Given the description of an element on the screen output the (x, y) to click on. 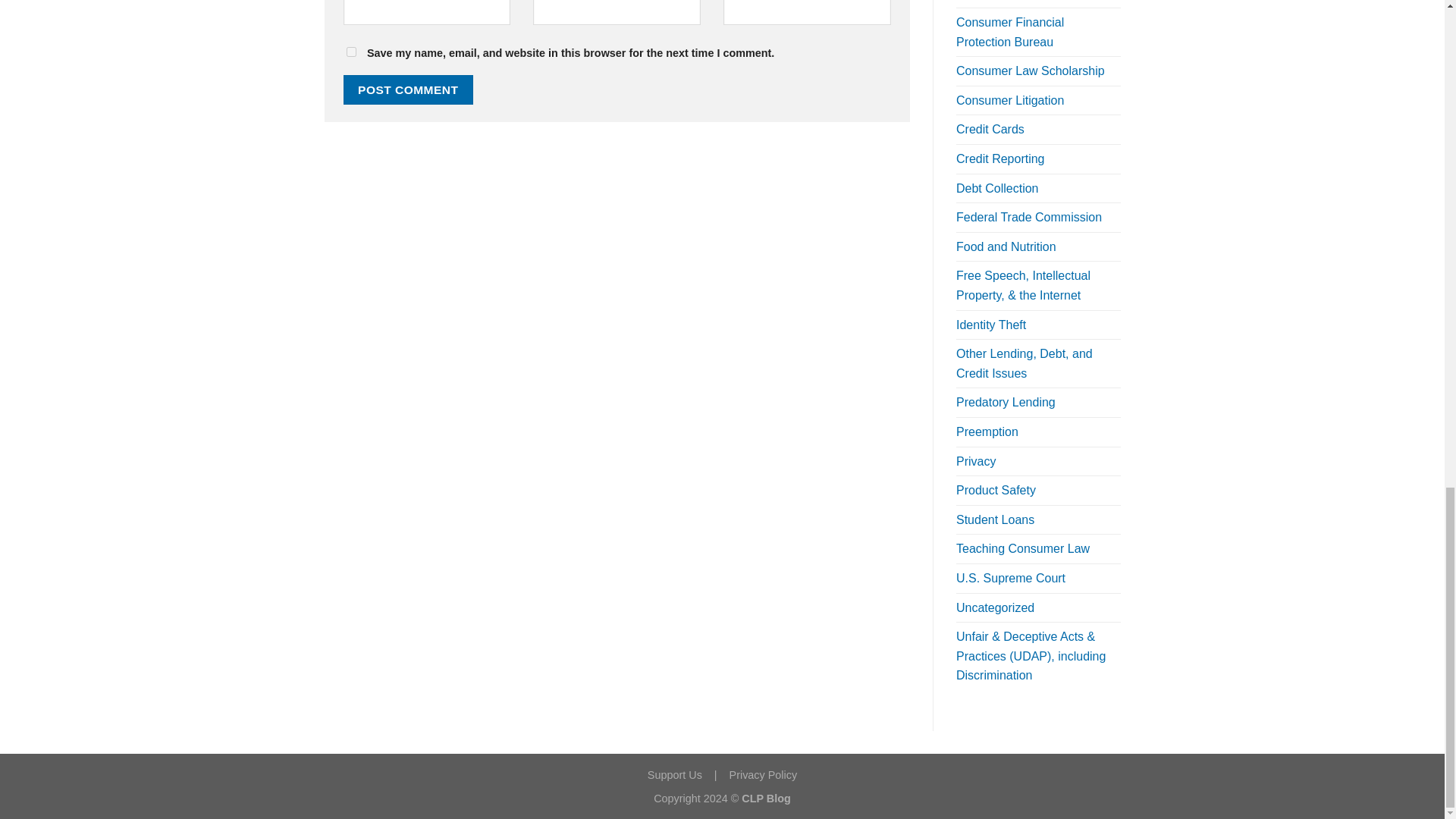
yes (350, 51)
Post Comment (407, 89)
Post Comment (407, 89)
